Given the description of an element on the screen output the (x, y) to click on. 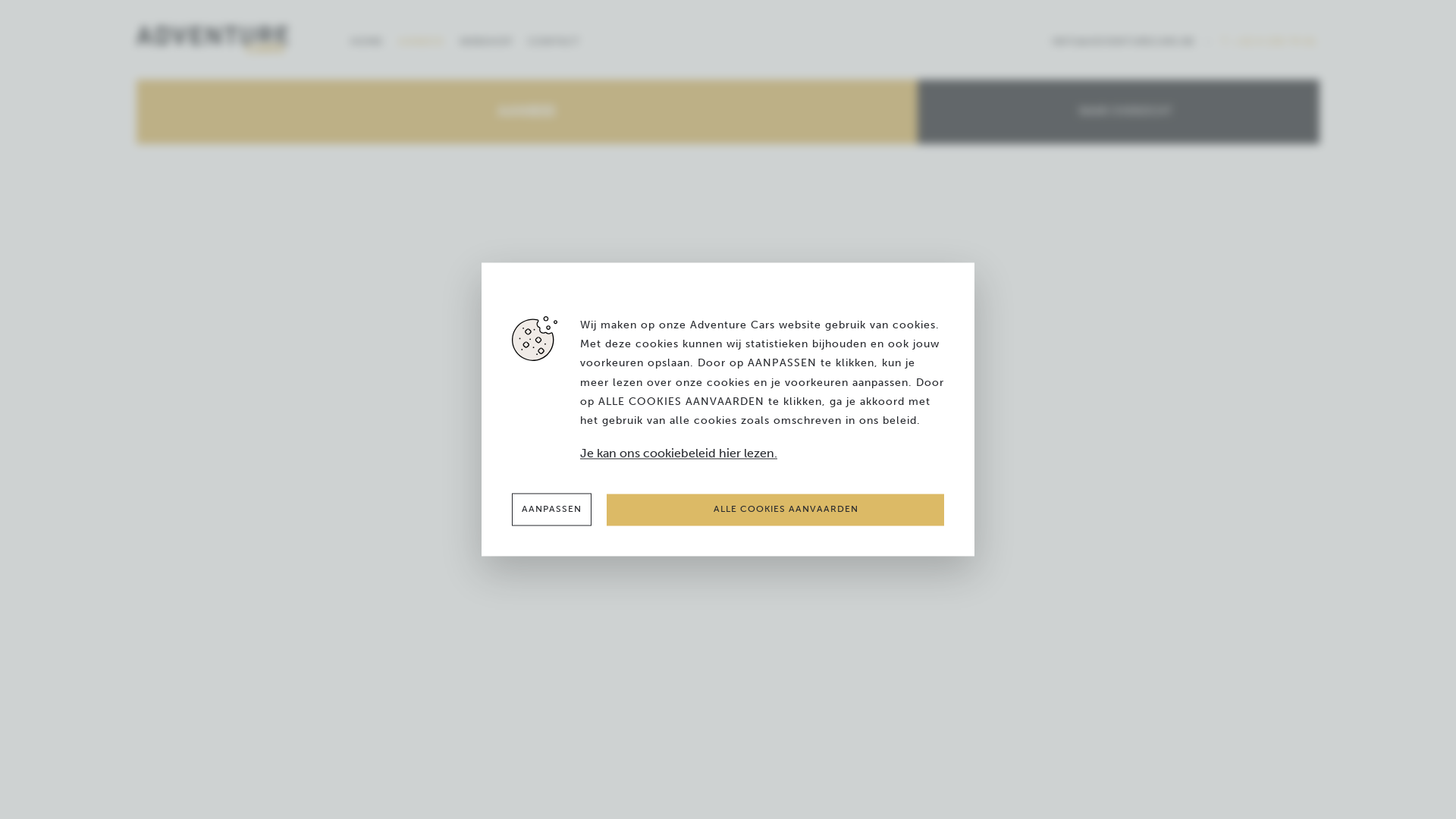
WEBSHOP Element type: text (485, 39)
AANBOD Element type: text (420, 39)
AANPASSEN Element type: text (551, 508)
ALLE COOKIES AANVAARDEN Element type: text (775, 509)
CONTACT Element type: text (553, 39)
HOME Element type: text (370, 39)
NAAR OVERZICHT Element type: text (1112, 111)
T. +32 9 230 79 81 Element type: text (1269, 39)
Je kan ons cookiebeleid hier lezen. Element type: text (762, 454)
INFO@ADVENTURECARS.BE Element type: text (1128, 39)
